Given the description of an element on the screen output the (x, y) to click on. 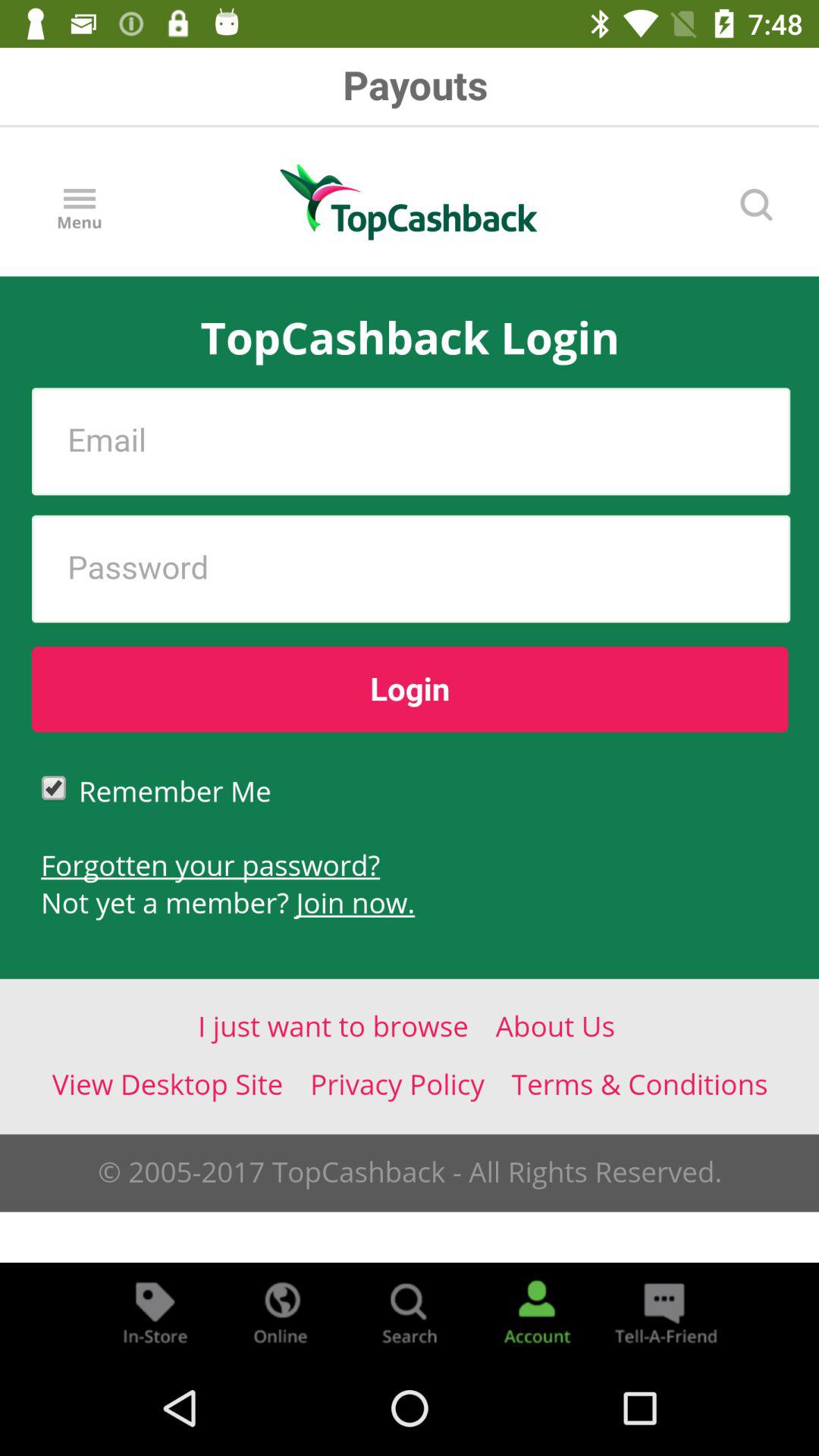
search button (409, 1311)
